Given the description of an element on the screen output the (x, y) to click on. 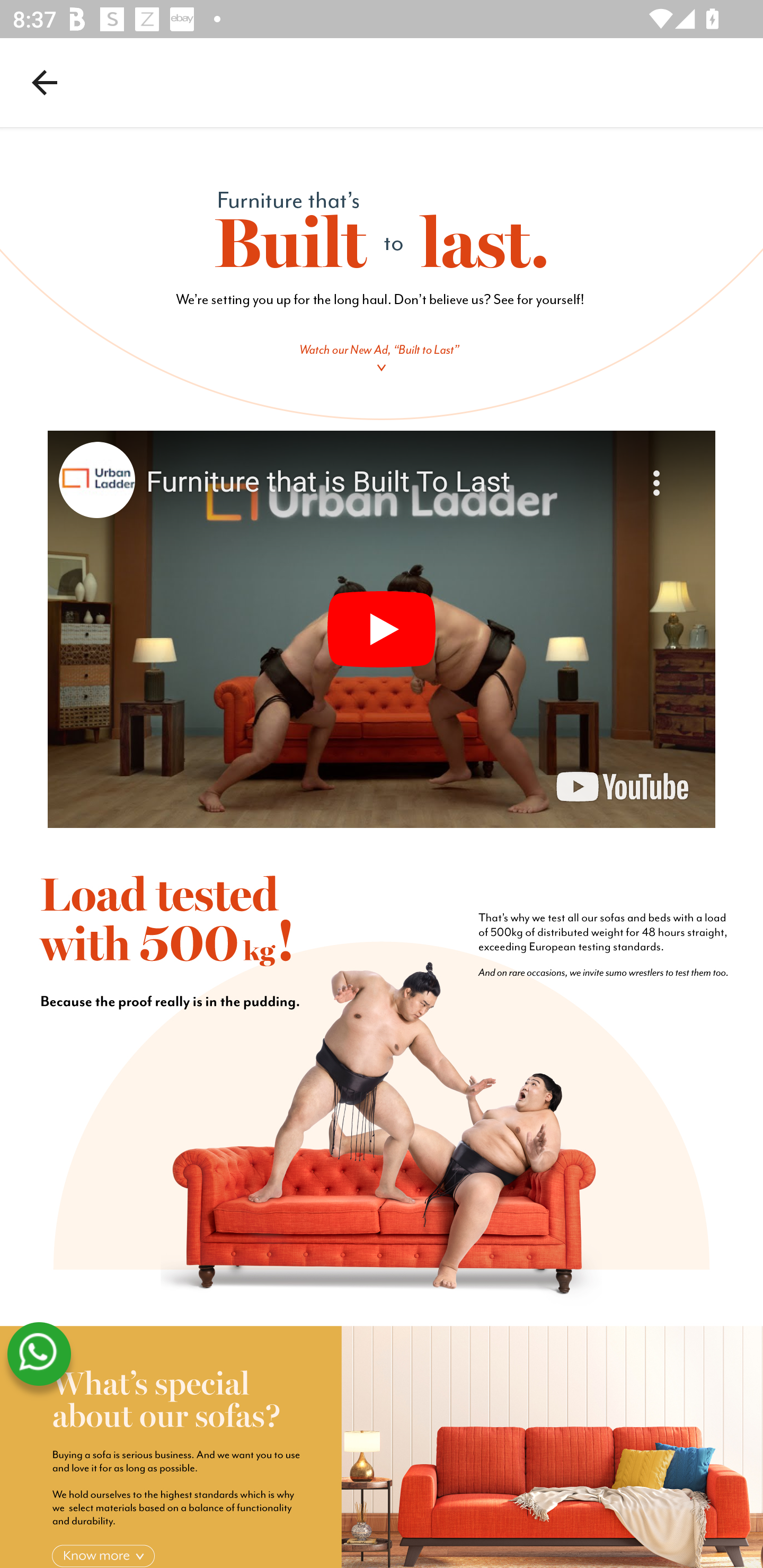
Navigate up (44, 82)
